Given the description of an element on the screen output the (x, y) to click on. 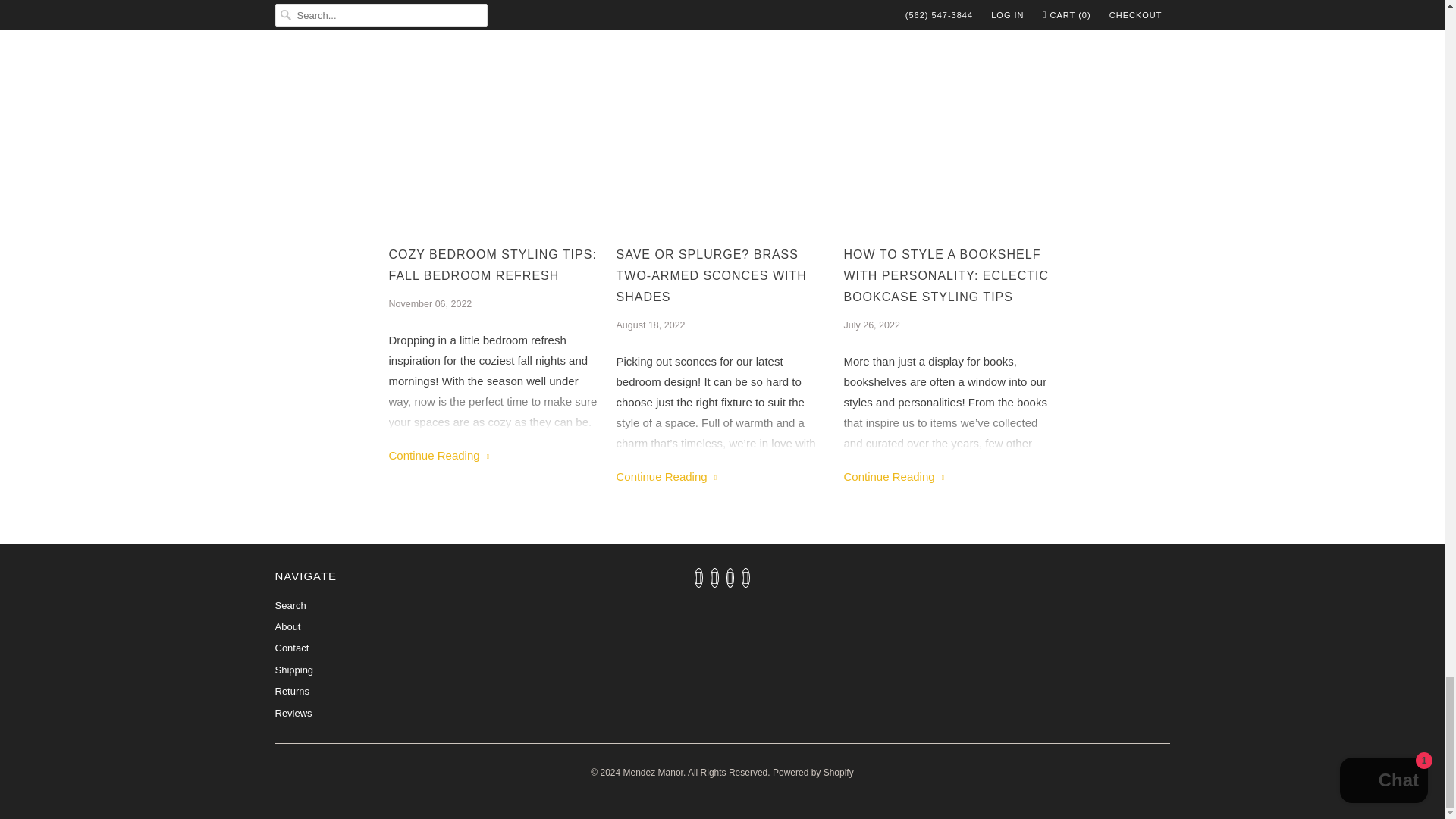
Save or Splurge? Brass Two-Armed Sconces with Shades (721, 112)
Cozy Bedroom Styling Tips: Fall Bedroom Refresh (493, 265)
Cozy Bedroom Styling Tips: Fall Bedroom Refresh (438, 454)
Save or Splurge? Brass Two-Armed Sconces with Shades (721, 275)
Cozy Bedroom Styling Tips: Fall Bedroom Refresh (493, 112)
